Given the description of an element on the screen output the (x, y) to click on. 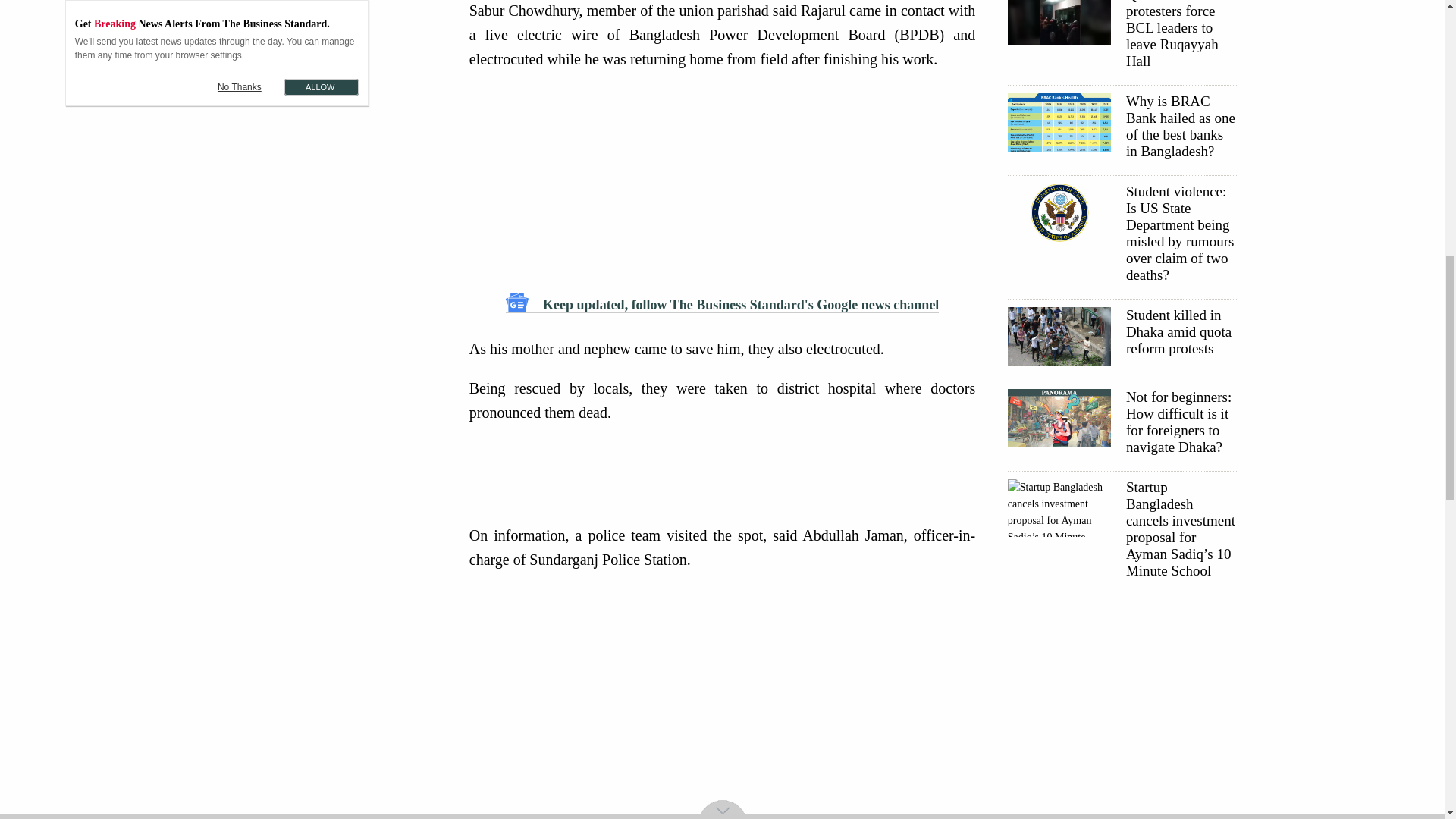
3rd party ad content (1120, 704)
3rd party ad content (721, 711)
3rd party ad content (726, 473)
3rd party ad content (324, 132)
3rd party ad content (721, 181)
3rd party ad content (324, 11)
